Given the description of an element on the screen output the (x, y) to click on. 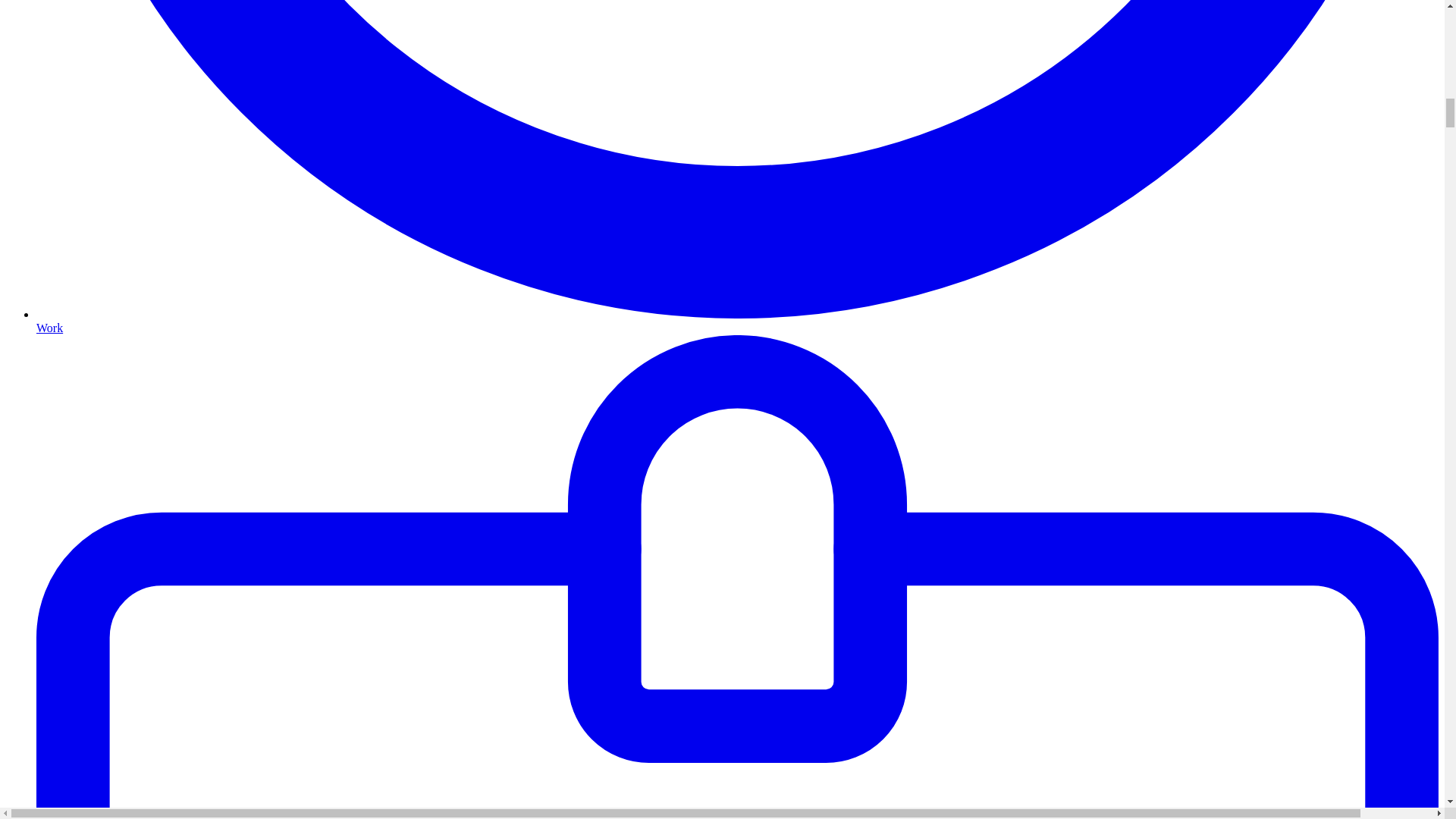
Work (737, 320)
